Given the description of an element on the screen output the (x, y) to click on. 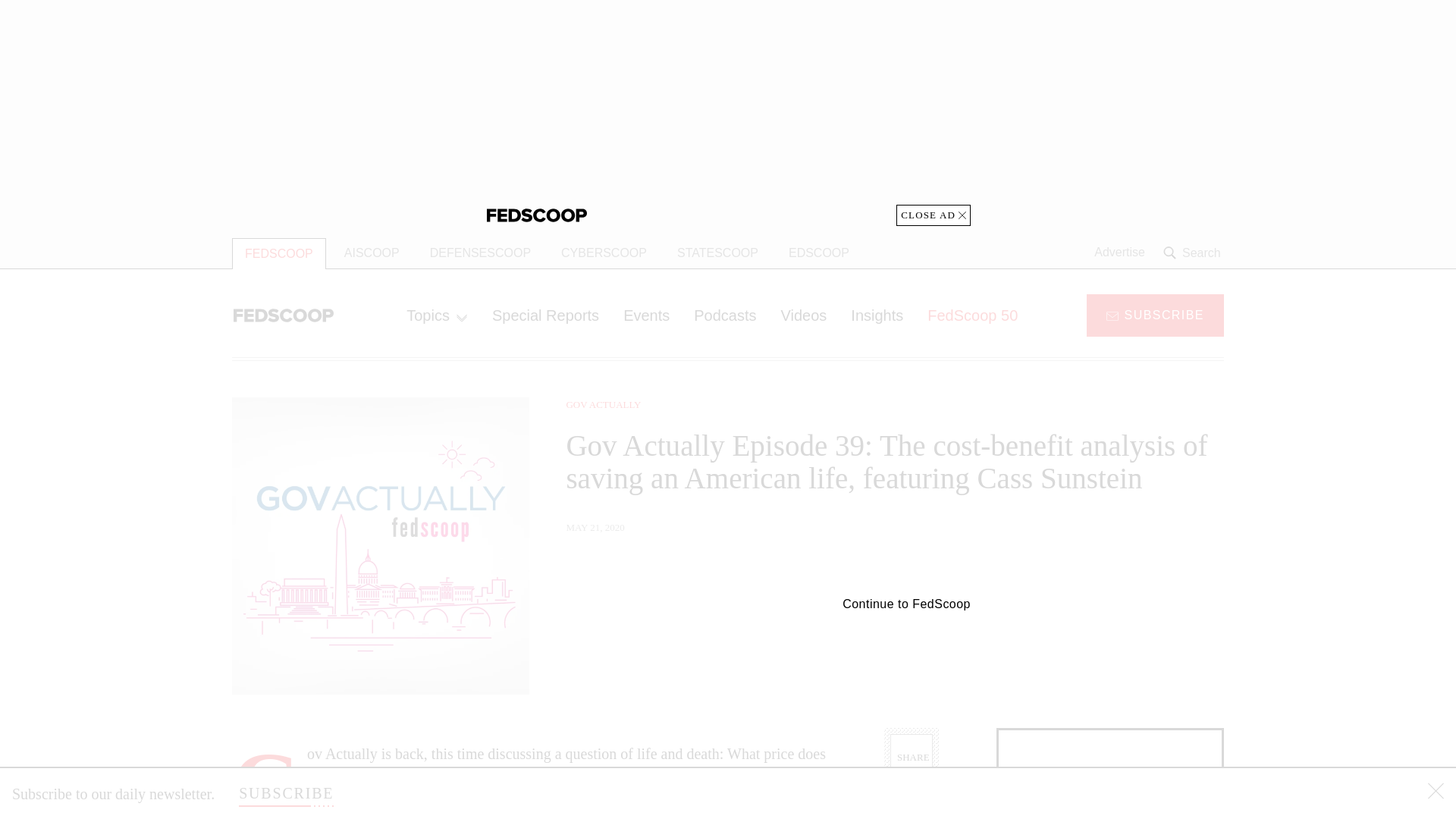
Search (1193, 252)
STATESCOOP (717, 253)
Podcasts (724, 315)
CYBERSCOOP (603, 253)
SUBSCRIBE (1155, 314)
Special Reports (545, 315)
AISCOOP (371, 253)
